Given the description of an element on the screen output the (x, y) to click on. 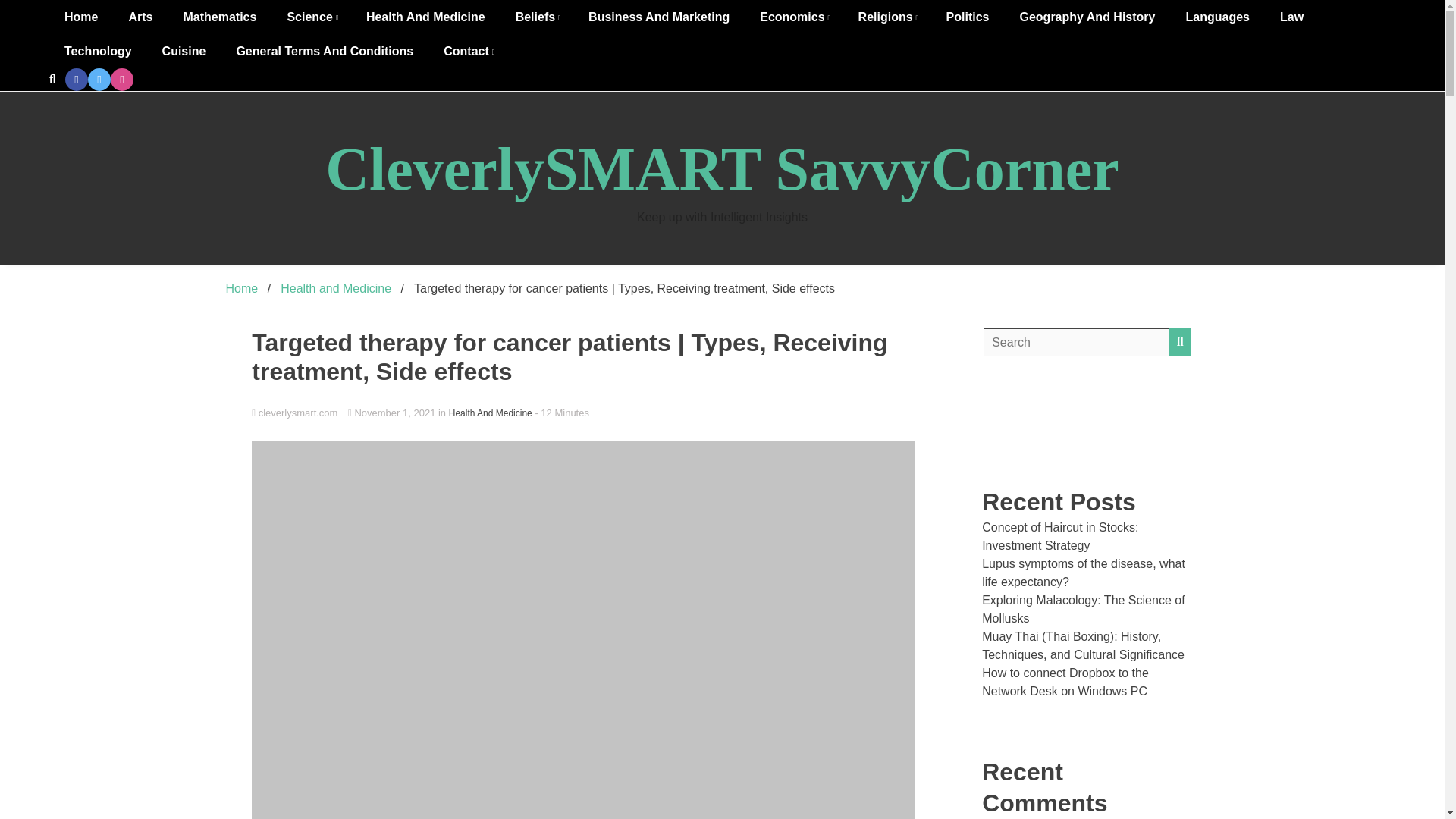
Politics (967, 17)
Beliefs (536, 17)
Law (1292, 17)
Languages (1216, 17)
Religions (887, 17)
Science (310, 17)
Home (81, 17)
Health And Medicine (425, 17)
Geography And History (1087, 17)
Contact (467, 50)
